Given the description of an element on the screen output the (x, y) to click on. 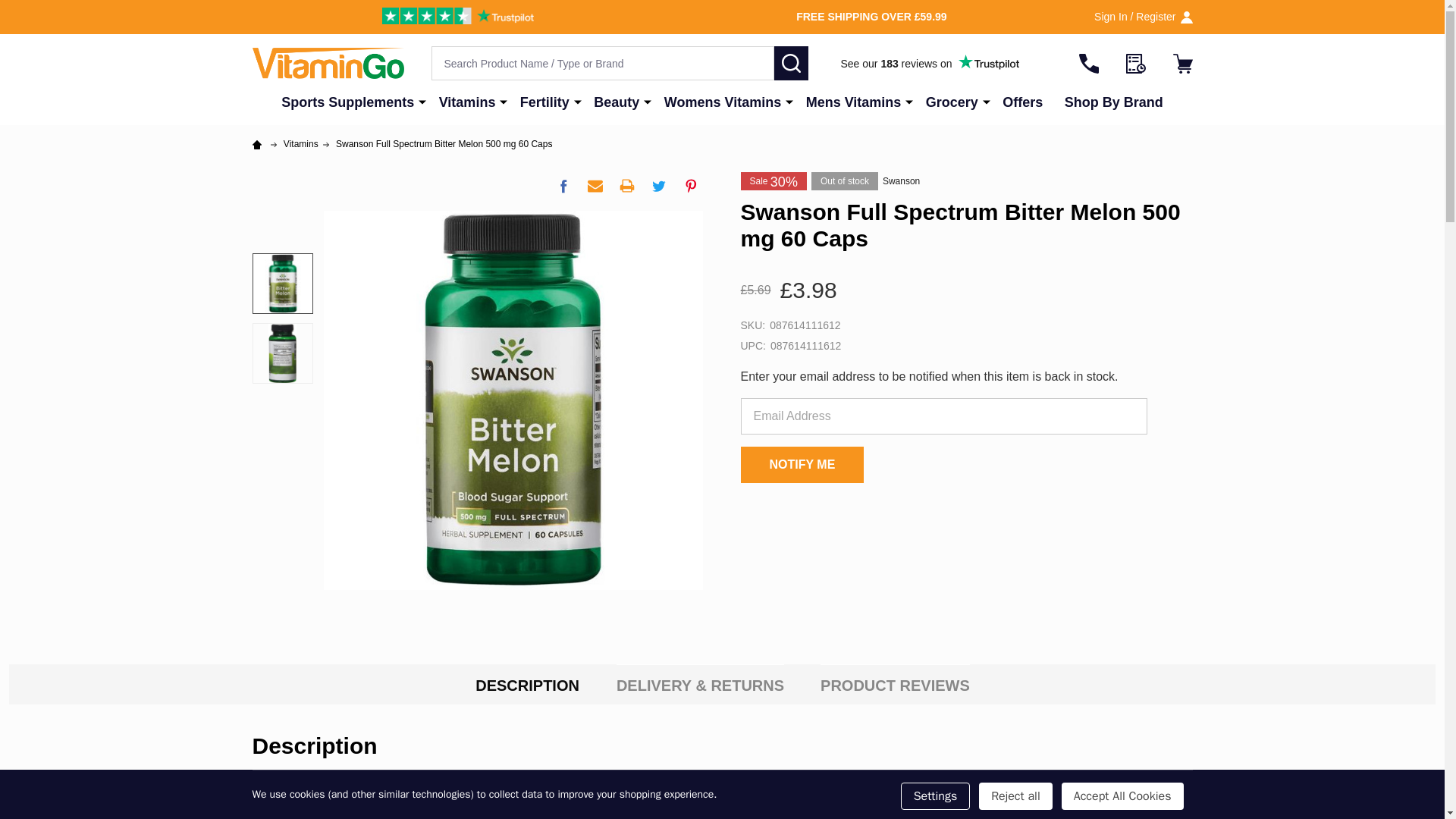
Vitamins (463, 102)
Call Us:  01332218320 (1087, 62)
Sports Supplements (344, 102)
Customer reviews powered by Trustpilot (929, 63)
SEARCH (790, 62)
Notify Me (801, 464)
Cart (1182, 62)
Recently Viewed (1134, 62)
